Given the description of an element on the screen output the (x, y) to click on. 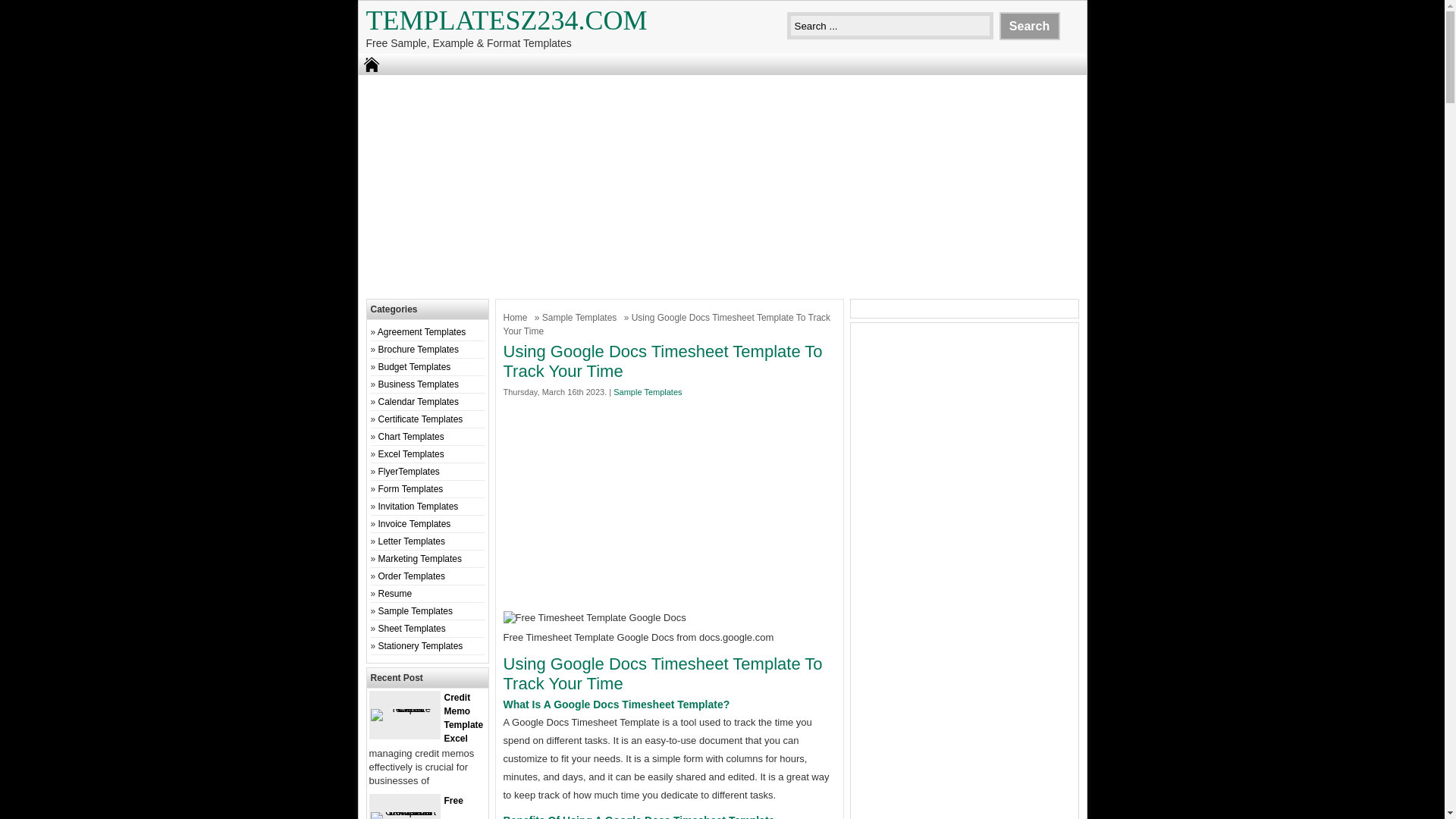
Templatesz234.com (505, 20)
Search ...  (889, 25)
Certificate Templates (420, 419)
Free Download Gantt Chart Template For Excel (416, 807)
Search (1028, 26)
Free Download Gantt Chart Template For Excel (403, 811)
Resume (395, 593)
Sample Templates (581, 317)
Form Templates (411, 489)
Budget Templates (414, 366)
Home (517, 317)
Search (1028, 26)
Calendar Templates (419, 401)
Sheet Templates (411, 628)
